Given the description of an element on the screen output the (x, y) to click on. 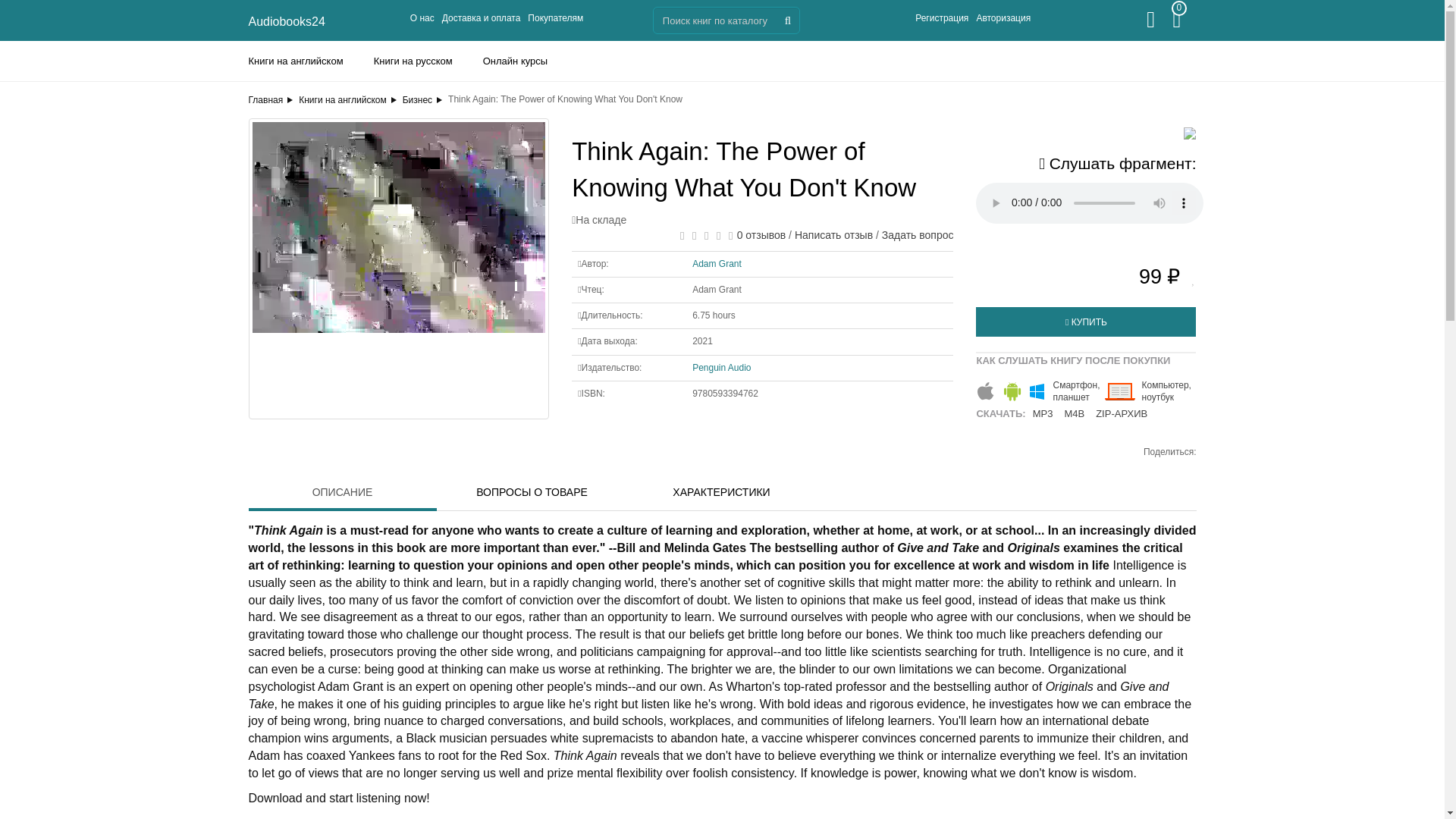
Think Again: The Power of Knowing What You Don't Know (399, 268)
Audiobooks24 (286, 21)
Think Again: The Power of Knowing What You Don't Know (397, 268)
0 (1184, 23)
